Given the description of an element on the screen output the (x, y) to click on. 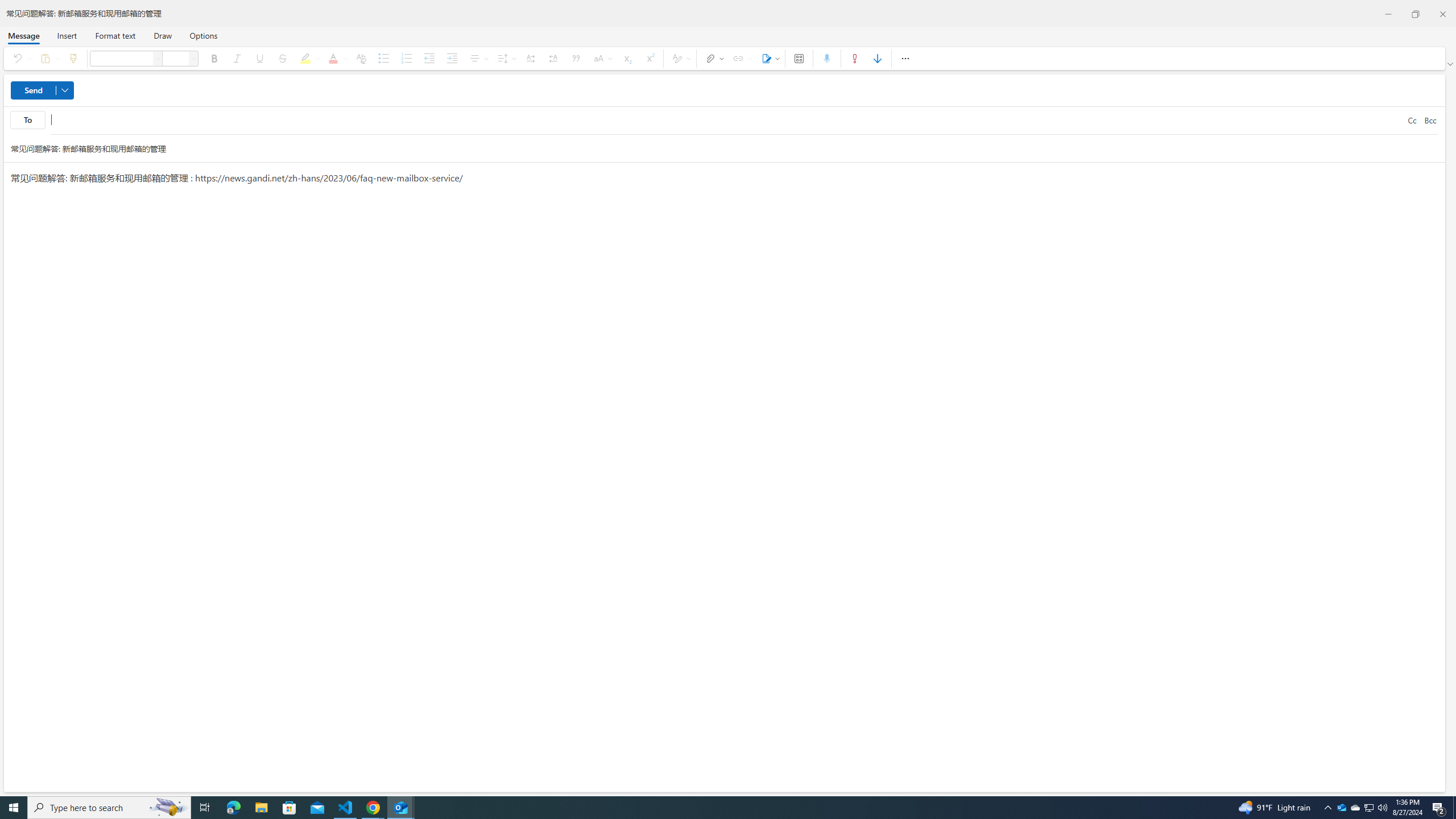
Draw (162, 35)
Font (121, 58)
Numbering (405, 58)
Strikethrough (282, 58)
Right-to-left (552, 58)
Bullets (383, 58)
Underline (259, 58)
Format painter (73, 58)
Text highlight color (307, 58)
Bcc (1430, 119)
Paste (47, 58)
Send (42, 90)
Options (202, 35)
Cc (1412, 119)
Font color (335, 58)
